Given the description of an element on the screen output the (x, y) to click on. 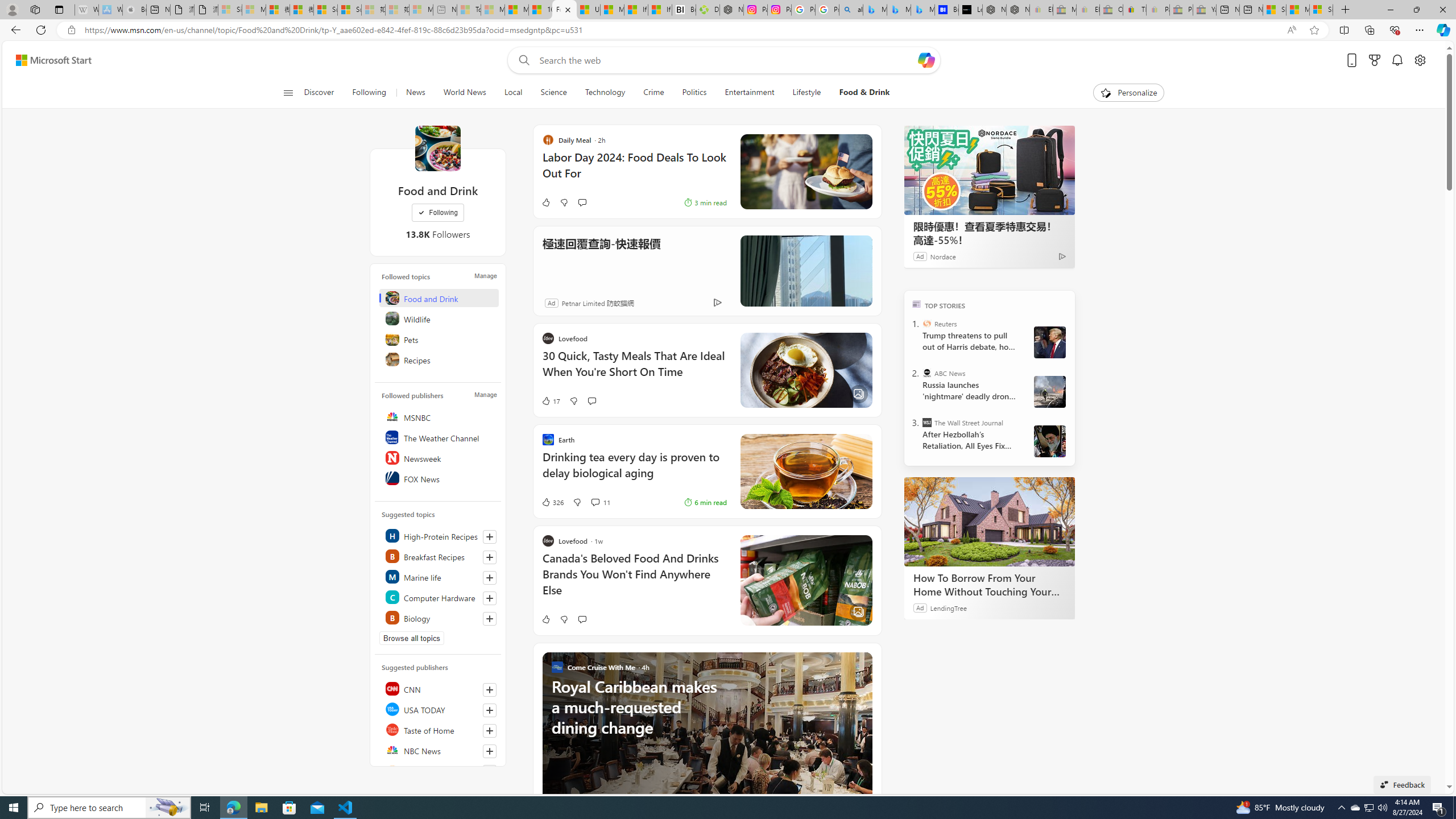
Personalize (1128, 92)
The Weather Channel (439, 437)
Entertainment (749, 92)
17 Like (549, 400)
Start the conversation (581, 619)
Food & Drink (859, 92)
